Given the description of an element on the screen output the (x, y) to click on. 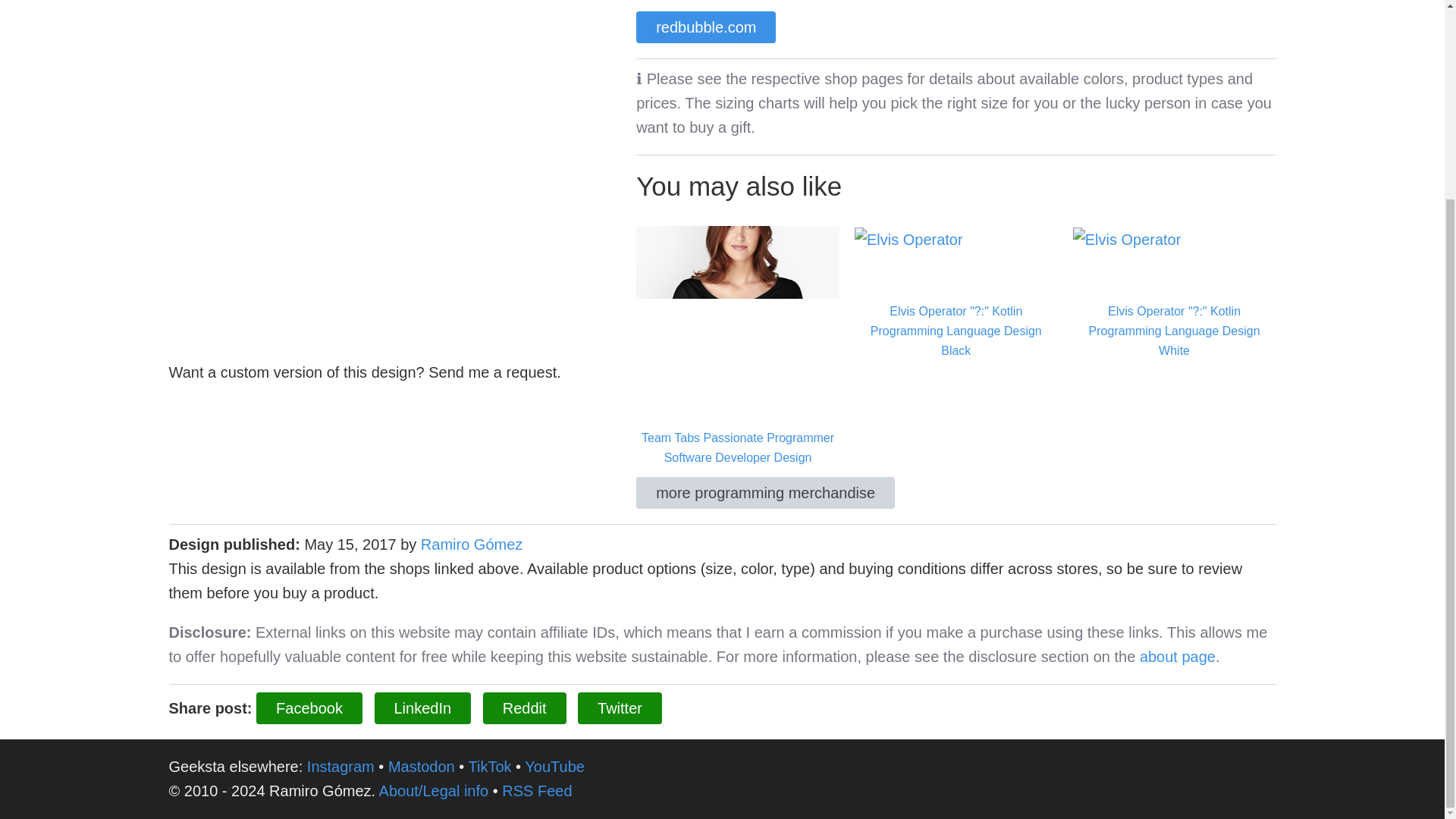
redbubble.com (706, 27)
Mastodon (421, 766)
Instagram (340, 766)
Reddit (524, 707)
YouTube (554, 766)
Team Tabs Passionate Programmer Software Developer Design (738, 346)
more programming merchandise (765, 492)
RSS Feed (537, 790)
Facebook (309, 707)
Twitter (620, 707)
